Given the description of an element on the screen output the (x, y) to click on. 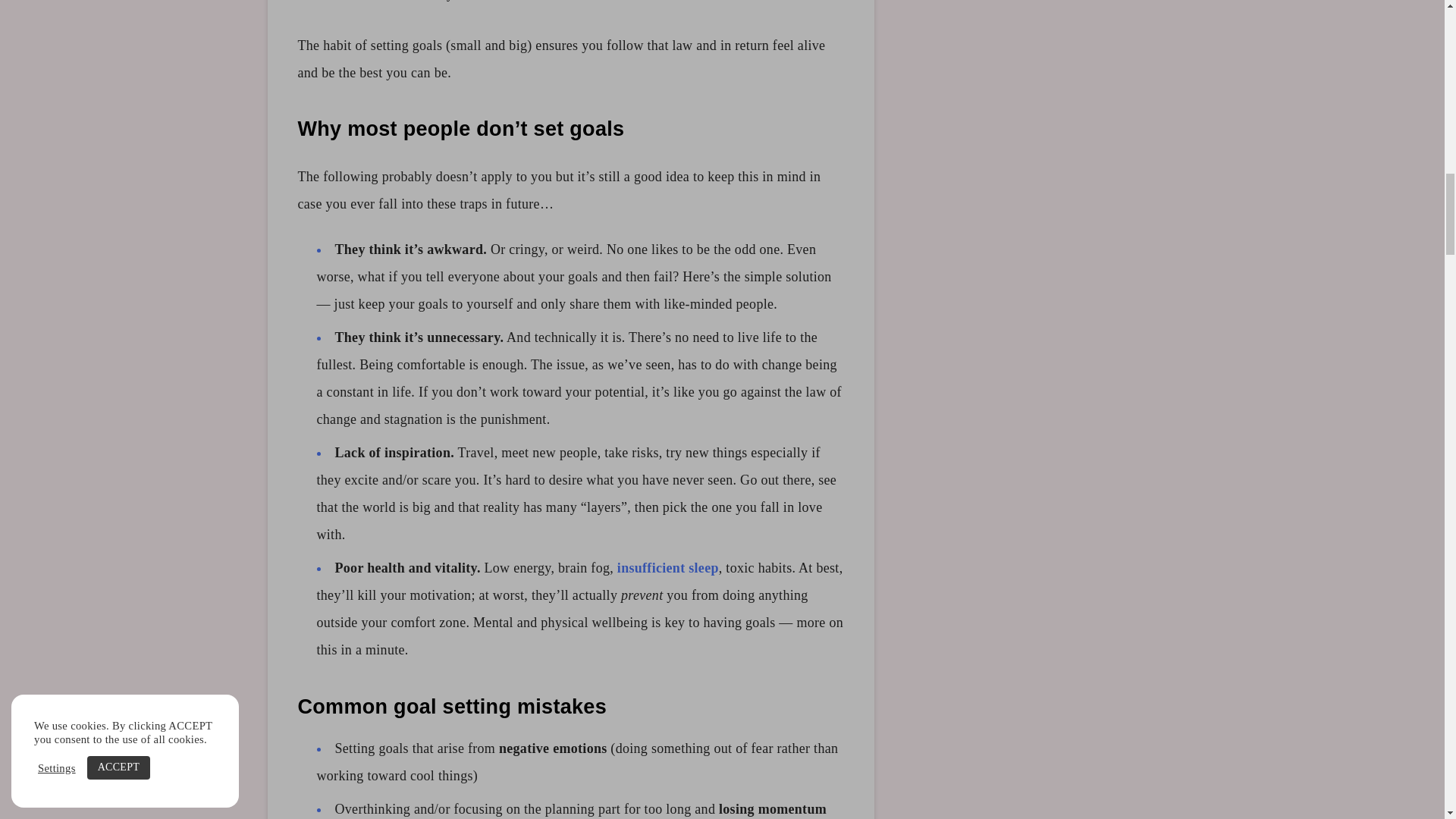
insufficient sleep (668, 567)
